Given the description of an element on the screen output the (x, y) to click on. 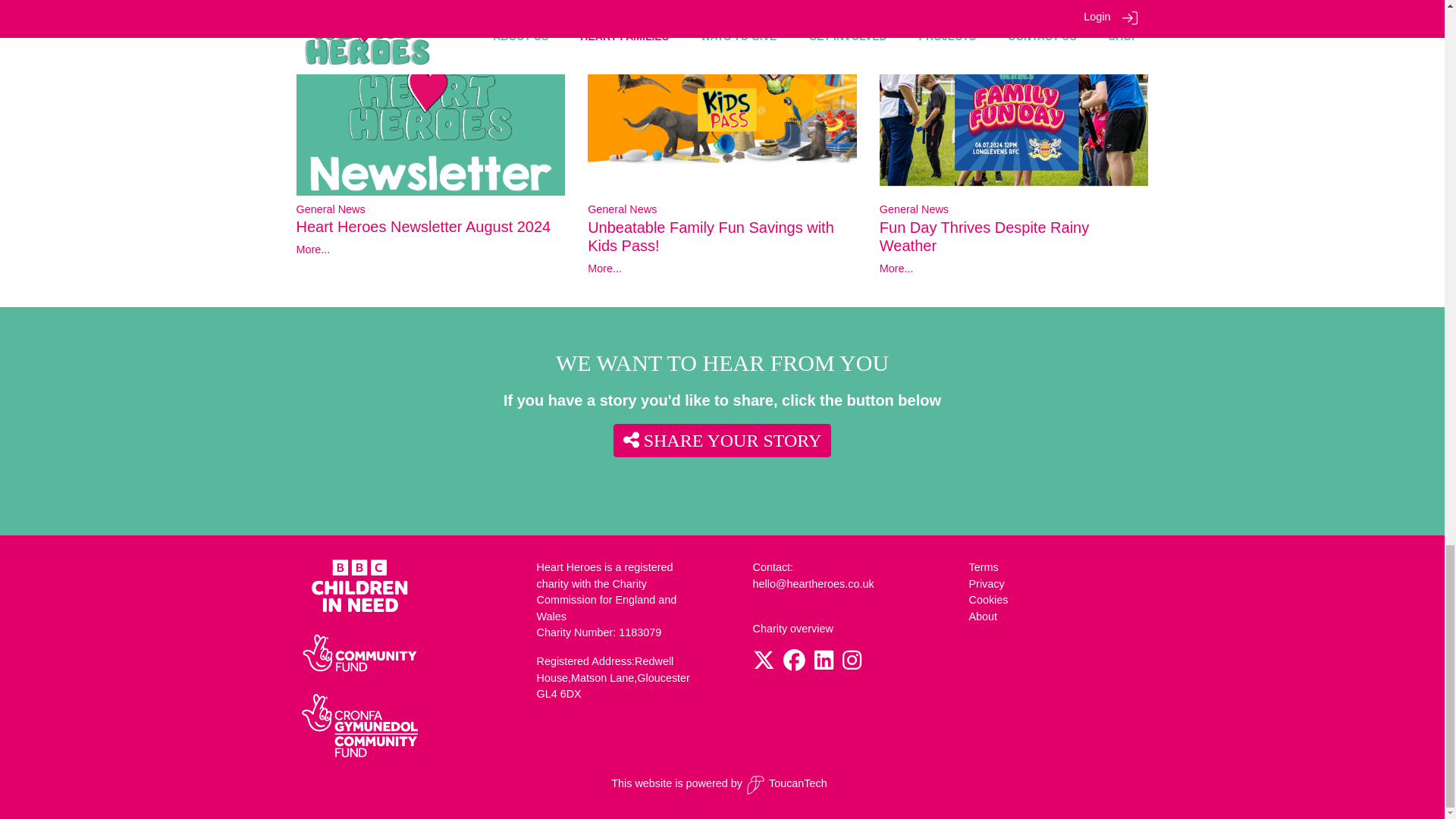
Twitter (763, 664)
LinkedIn (822, 664)
Instagram (852, 664)
Facebook (794, 664)
